Given the description of an element on the screen output the (x, y) to click on. 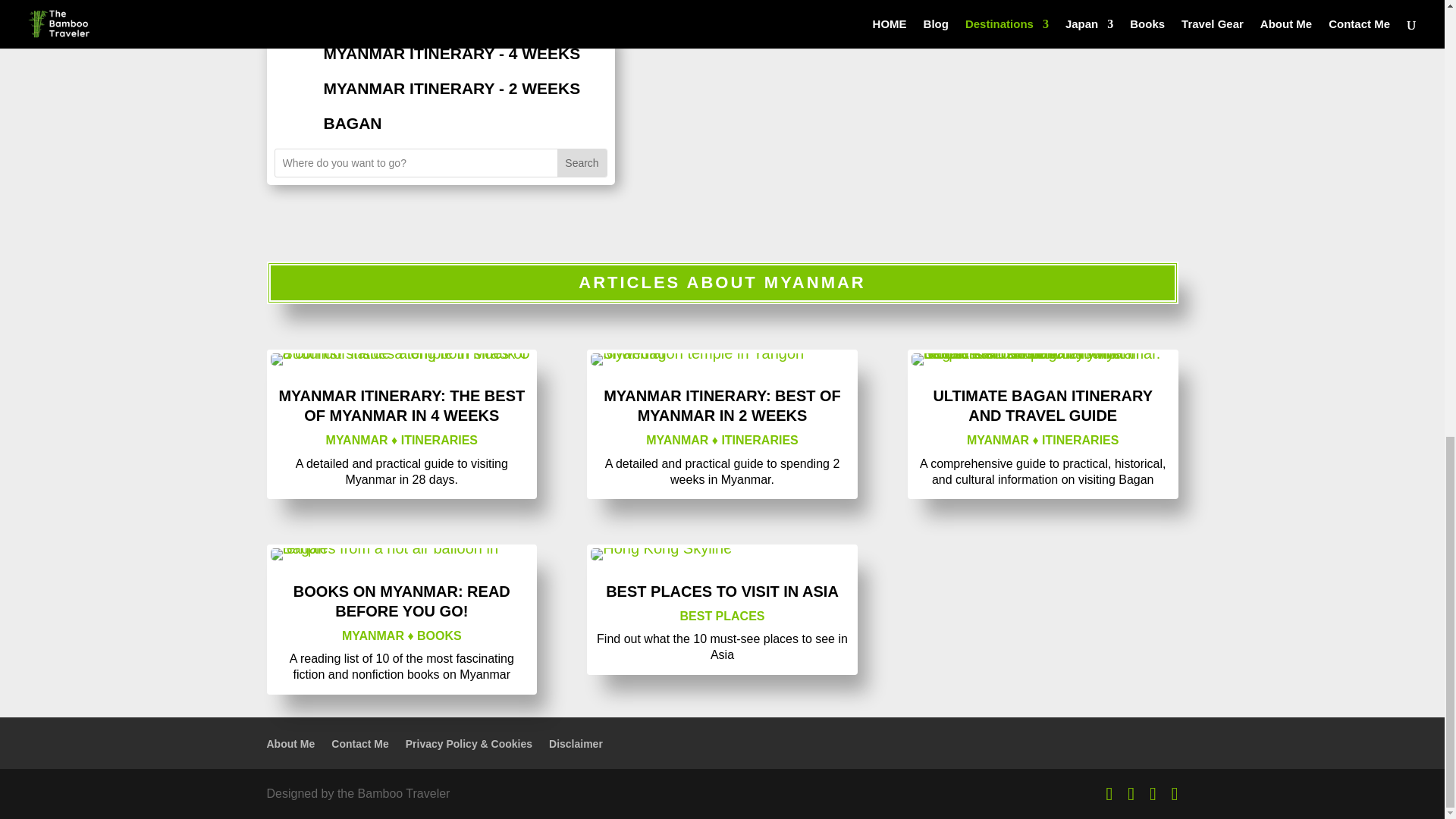
Search (581, 162)
Hong Kong 320-2 (661, 553)
Search (581, 162)
Bagan1 320-0592 (400, 553)
Scenic sunrise above Bagan in Myanmar (1042, 358)
Shwedagon 320- (722, 358)
Mrauk U 320- (400, 358)
